Given the description of an element on the screen output the (x, y) to click on. 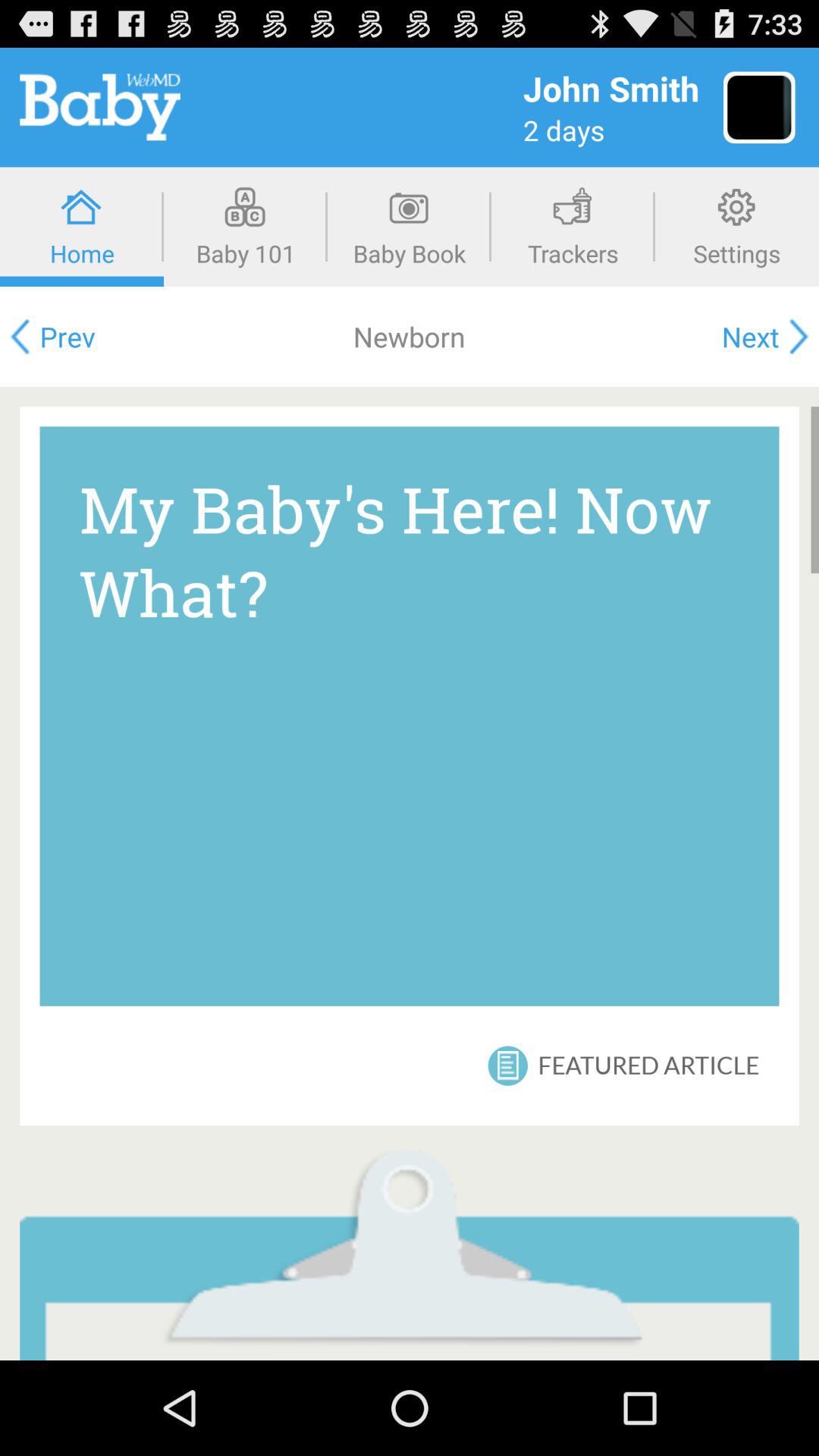
launch the item to the left of the featured article icon (507, 1065)
